Given the description of an element on the screen output the (x, y) to click on. 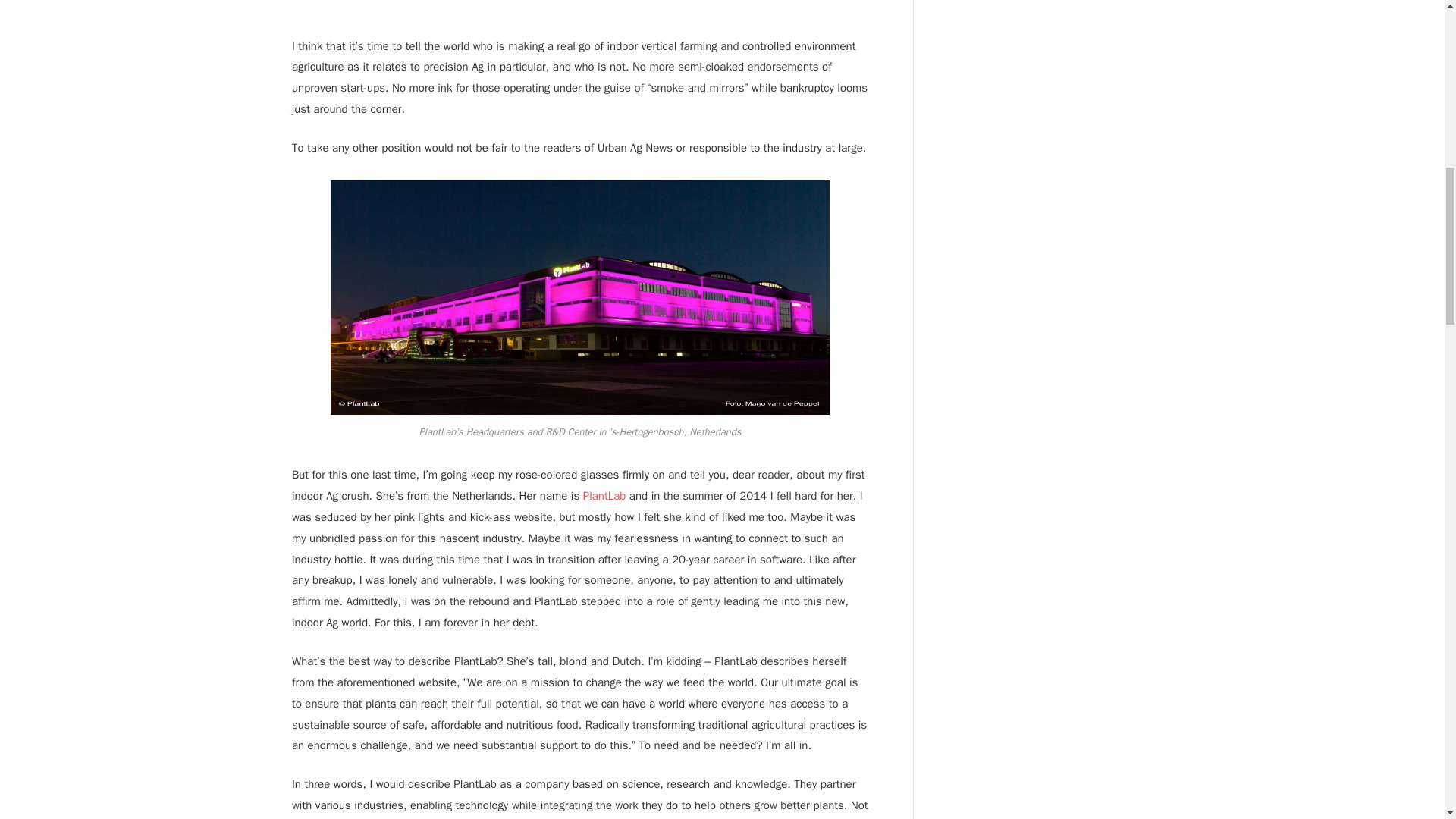
PlantLab (604, 495)
